Given the description of an element on the screen output the (x, y) to click on. 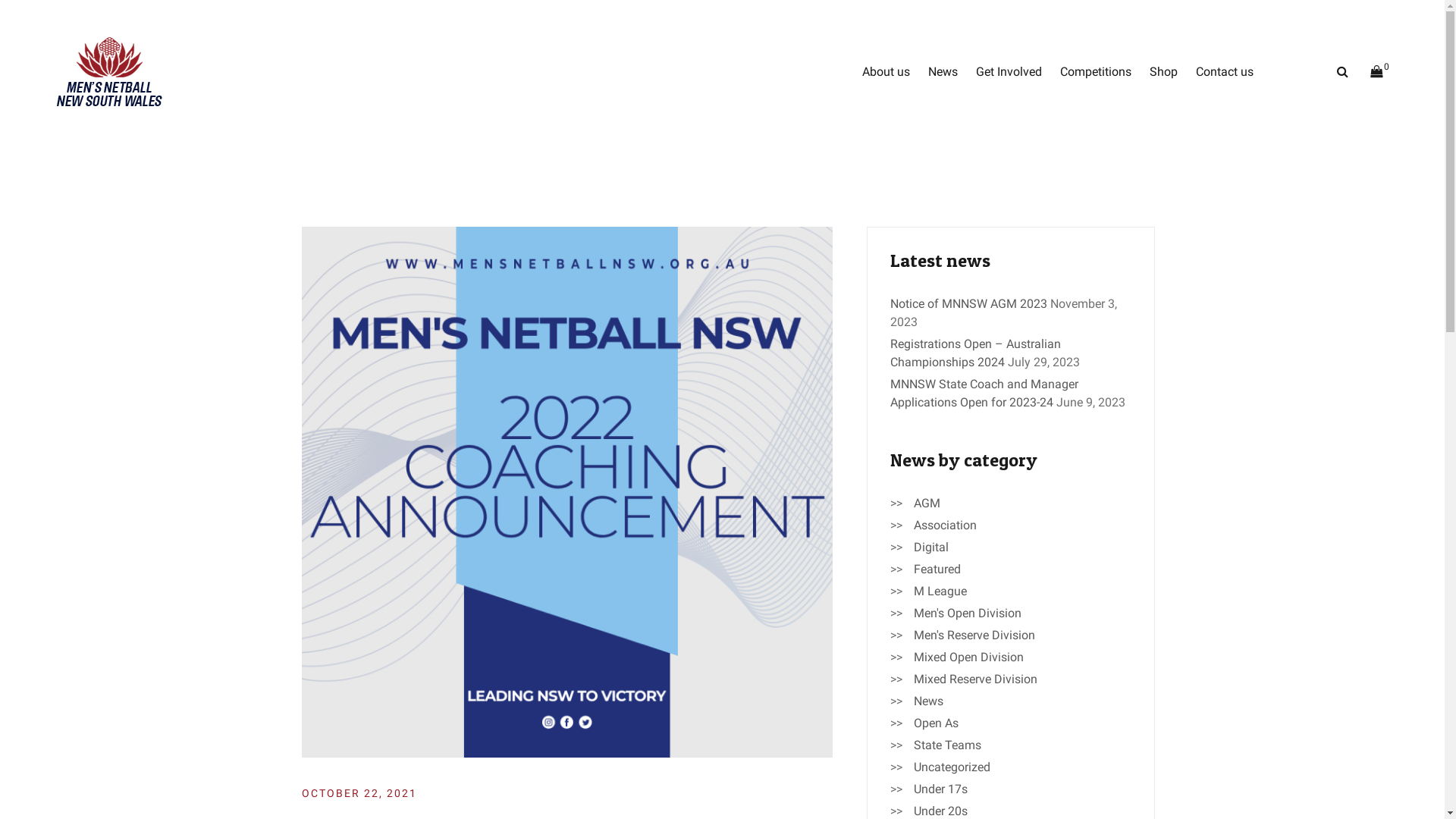
M League Element type: text (939, 591)
News Element type: text (927, 701)
Uncategorized Element type: text (951, 767)
Get Involved Element type: text (1008, 71)
Notice of MNNSW AGM 2023 Element type: text (968, 303)
Under 17s Element type: text (939, 789)
Association Element type: text (944, 525)
Competitions Element type: text (1095, 71)
Mixed Reserve Division Element type: text (974, 679)
Digital Element type: text (930, 547)
OCTOBER 22, 2021 Element type: text (359, 793)
Open As Element type: text (935, 723)
Featured Element type: text (936, 569)
Contact us Element type: text (1224, 71)
MNNSW State Coach and Manager Applications Open for 2023-24 Element type: text (984, 392)
About us Element type: text (886, 71)
State Teams Element type: text (946, 745)
AGM Element type: text (926, 503)
Mixed Open Division Element type: text (967, 657)
0 Element type: text (1378, 71)
News Element type: text (942, 71)
Men's Open Division Element type: text (966, 613)
Shop Element type: text (1163, 71)
Men's Reserve Division Element type: text (973, 635)
